Given the description of an element on the screen output the (x, y) to click on. 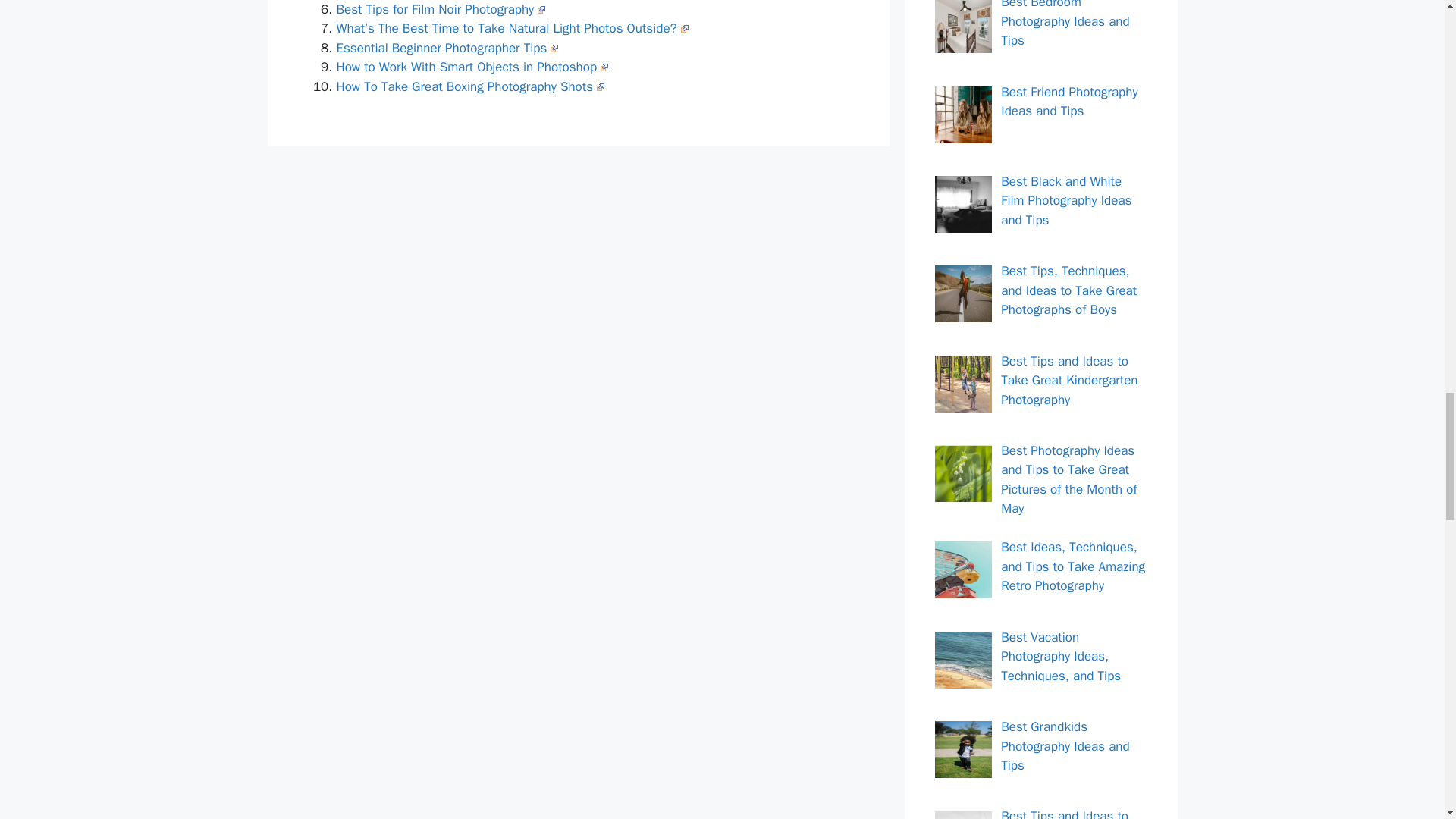
How To Take Great Boxing Photography Shots (470, 86)
Best Tips for Film Noir Photography (441, 9)
How To Take Great Boxing Photography Shots (470, 86)
Essential Beginner Photographer Tips (447, 48)
Essential Beginner Photographer Tips (447, 48)
How to Work With Smart Objects in Photoshop (472, 66)
Best Tips for Film Noir Photography (441, 9)
How to Work With Smart Objects in Photoshop (472, 66)
